Given the description of an element on the screen output the (x, y) to click on. 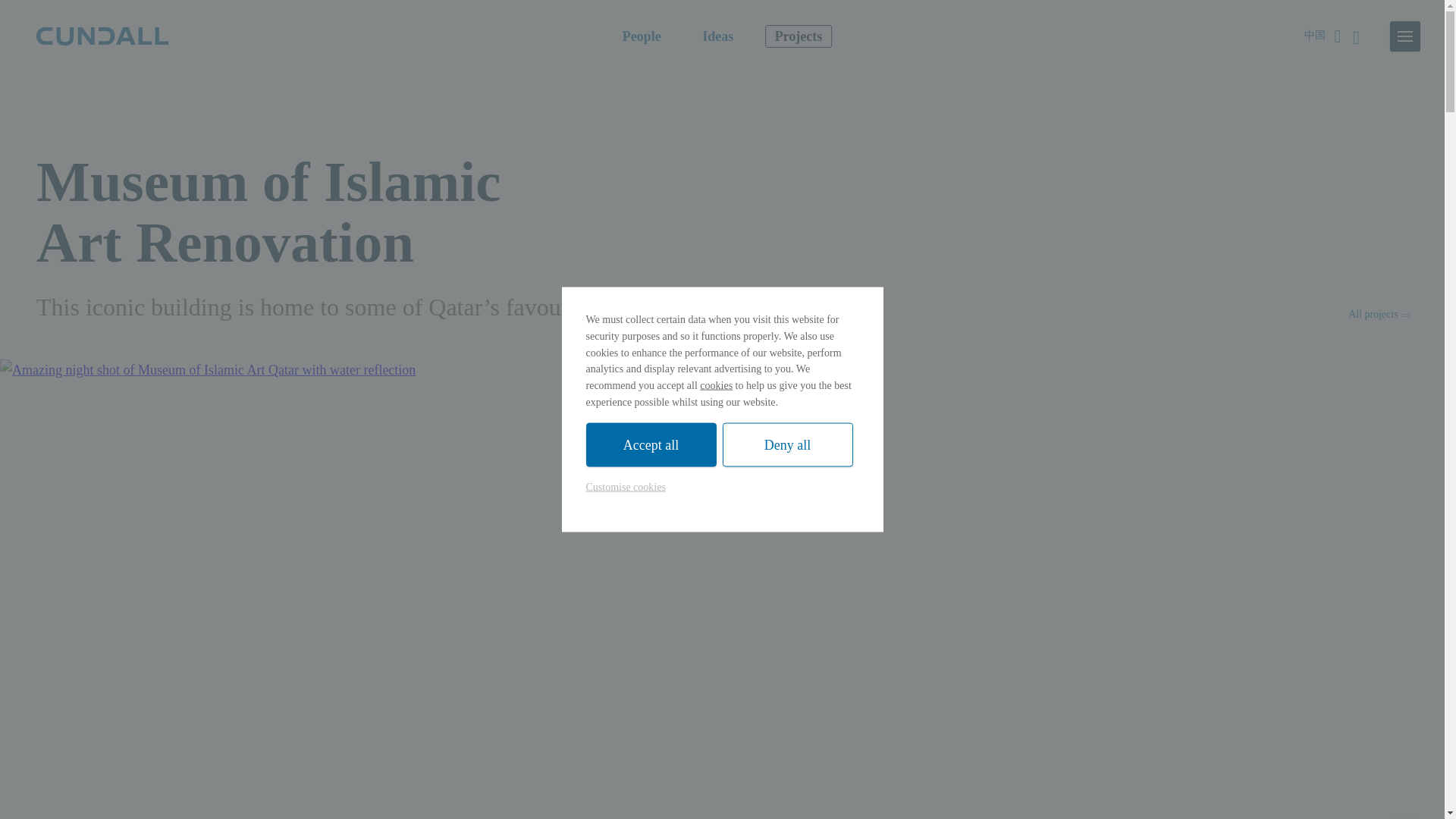
Customise cookies (625, 487)
Deny all (786, 444)
Projects (798, 36)
cookies (716, 385)
Ideas (717, 36)
People (641, 36)
All projects (1377, 314)
Accept all (650, 444)
